Given the description of an element on the screen output the (x, y) to click on. 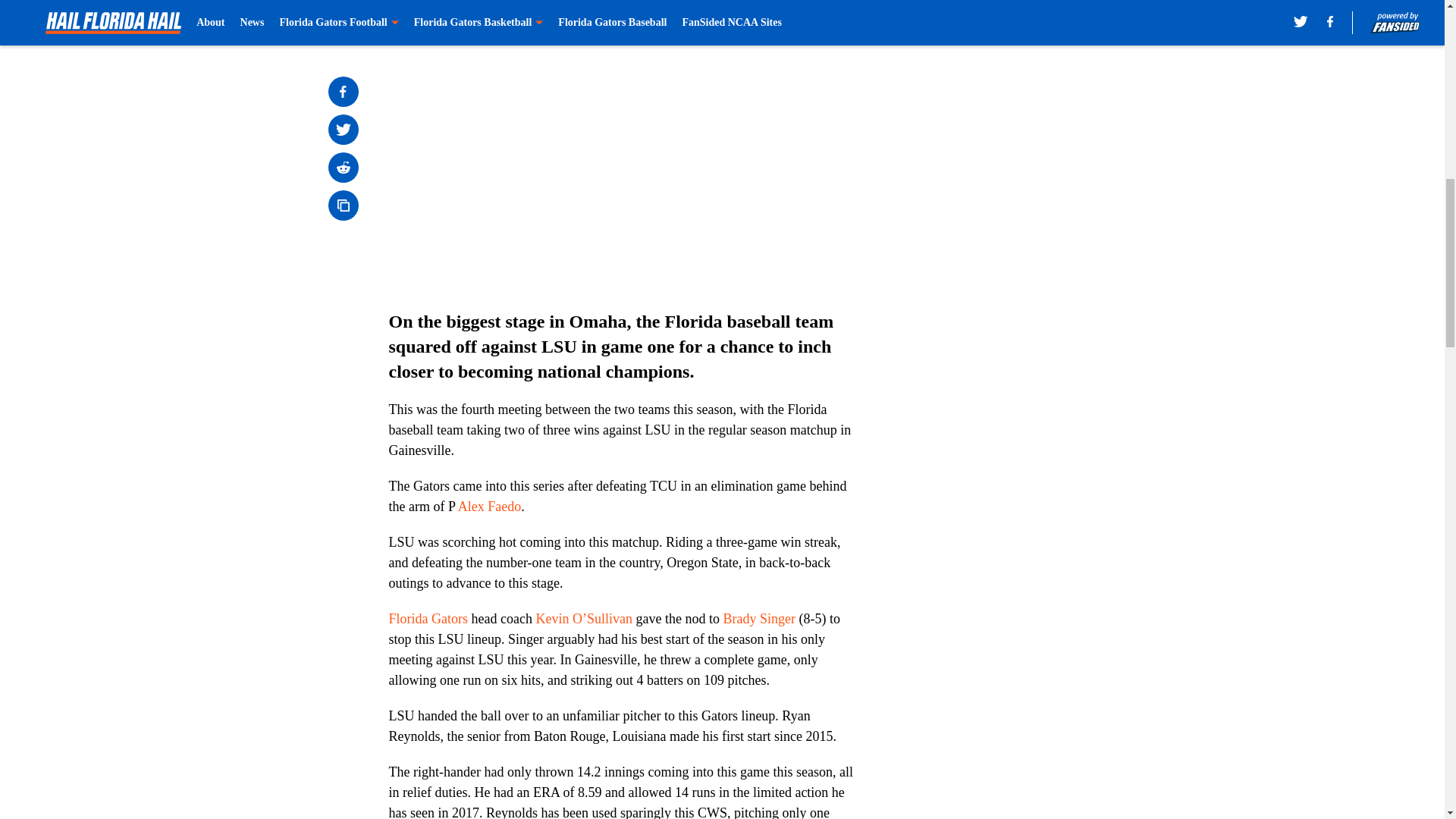
Brady Singer (758, 618)
Alex Faedo (489, 506)
Florida Gators (427, 618)
